Given the description of an element on the screen output the (x, y) to click on. 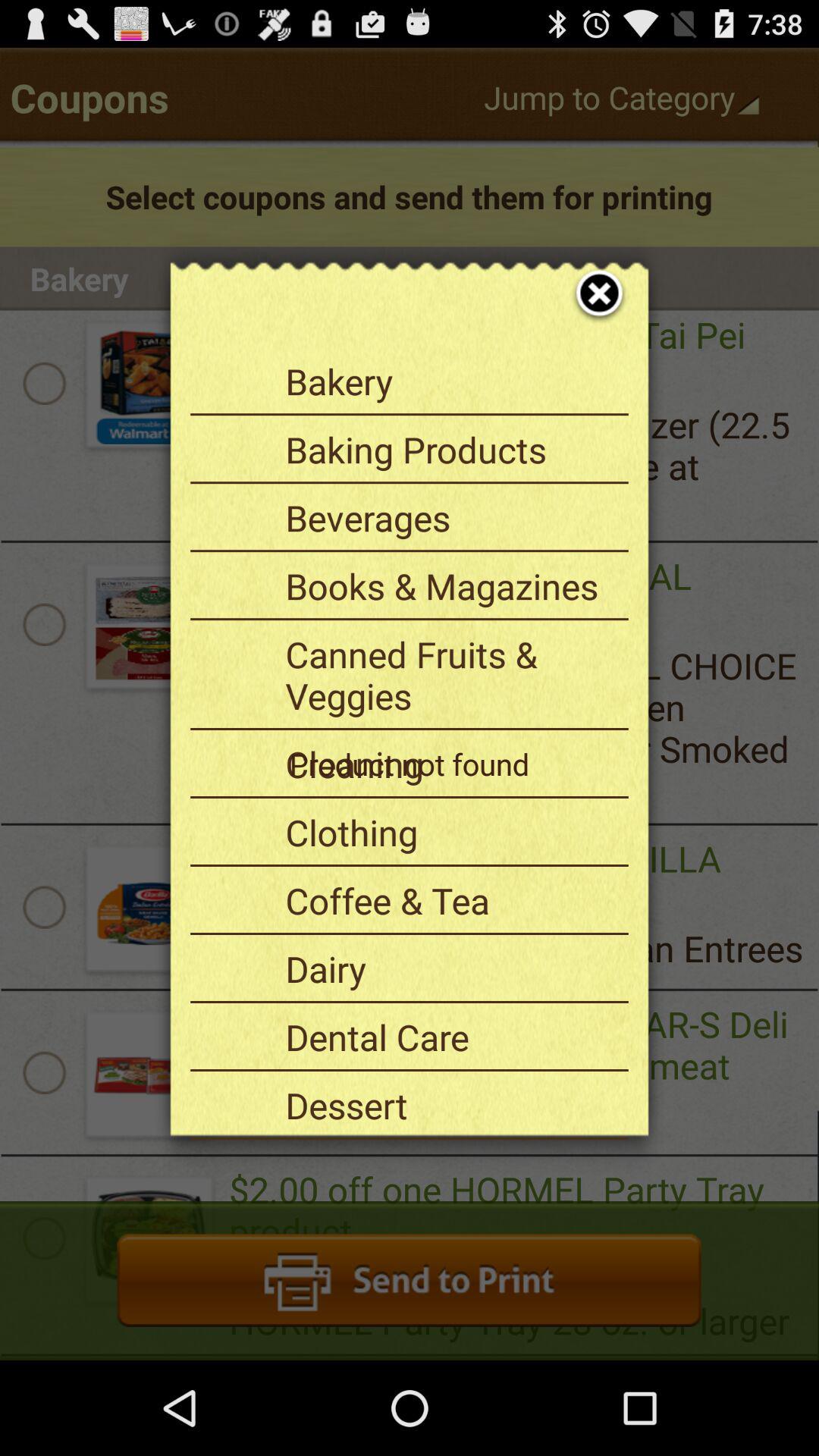
turn on dental care app (451, 1036)
